Given the description of an element on the screen output the (x, y) to click on. 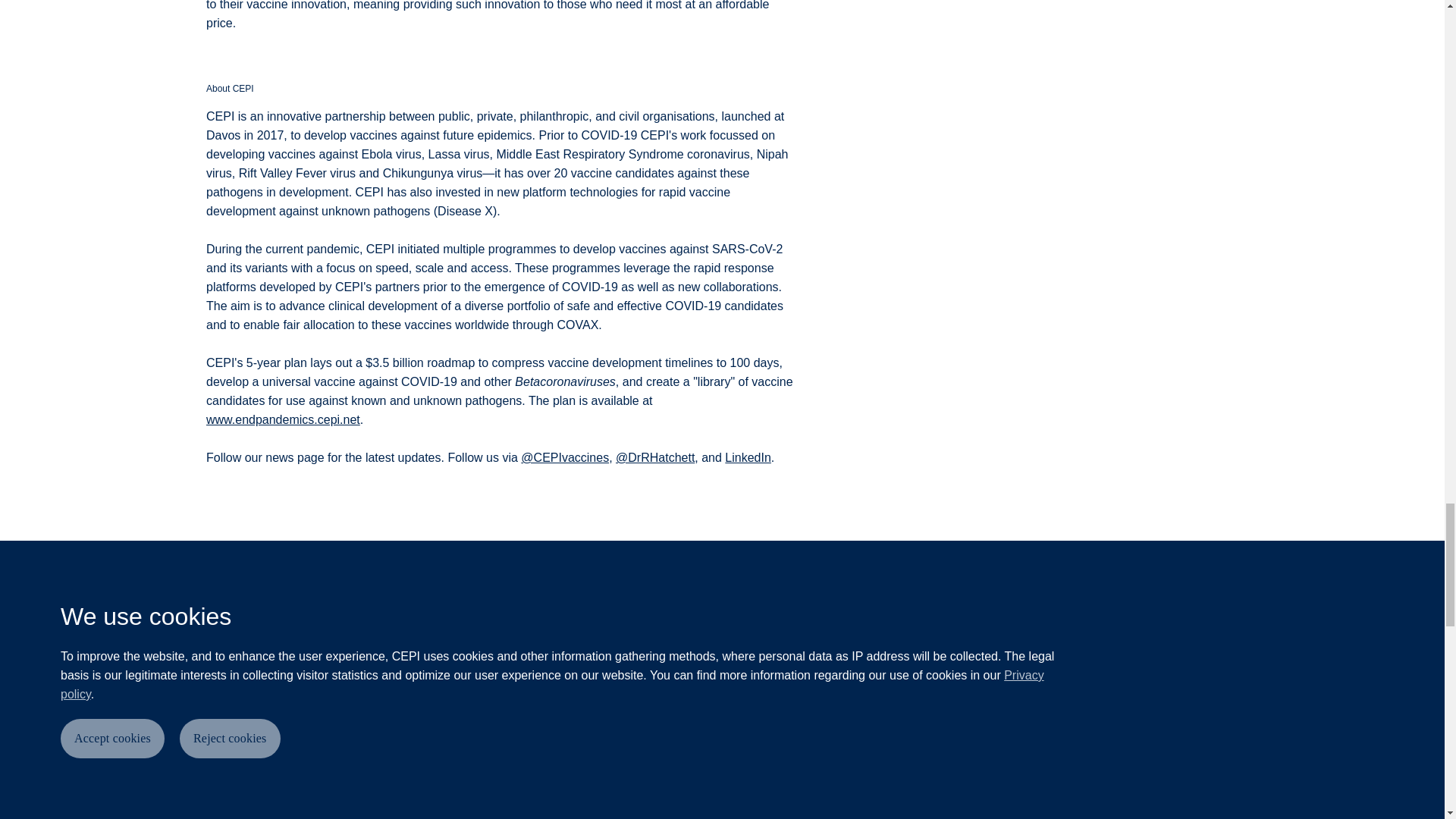
LinkedIn (748, 457)
www.endpandemics.cepi.net (282, 419)
About (229, 804)
